Given the description of an element on the screen output the (x, y) to click on. 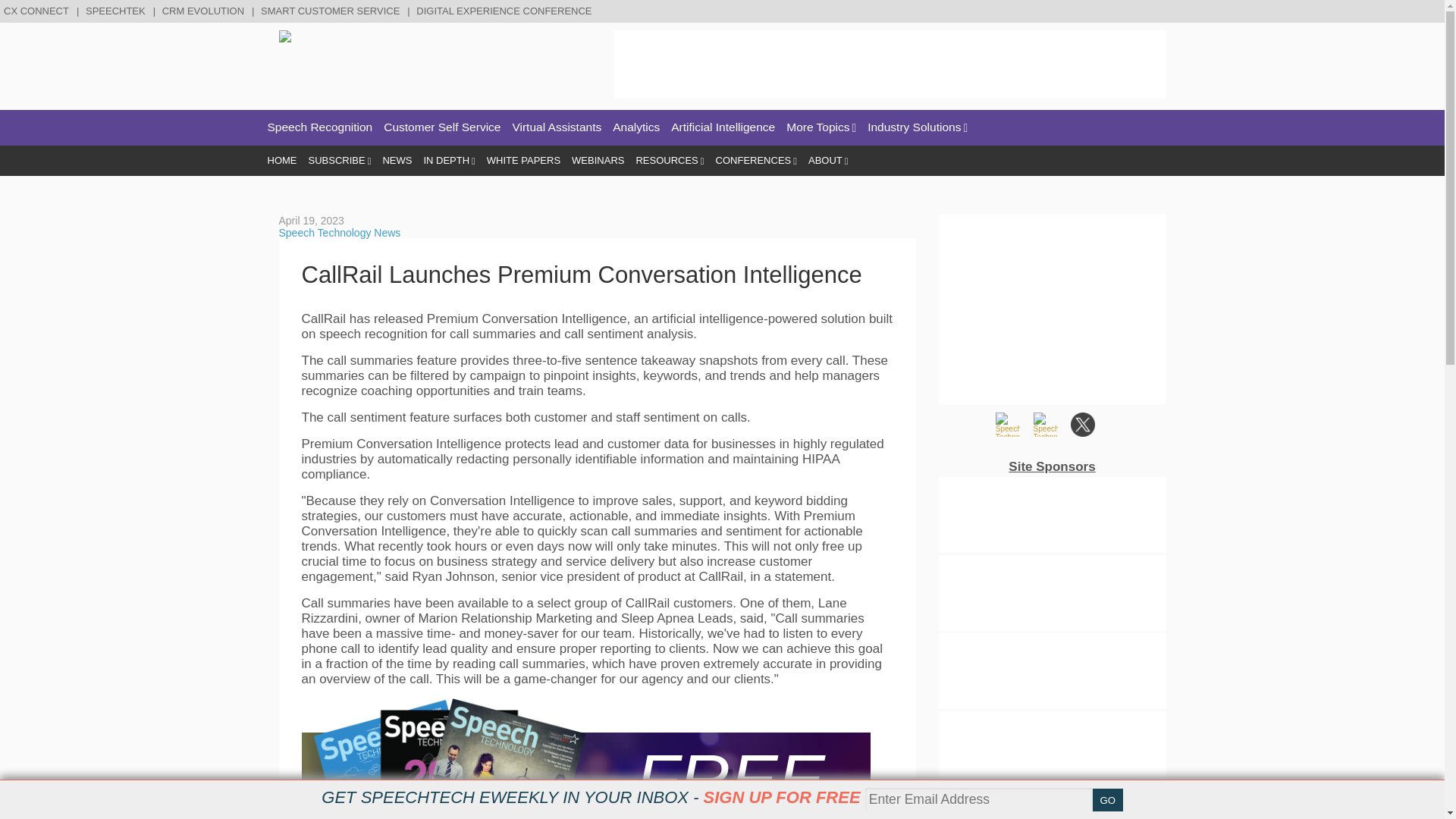
Industry Solutions (917, 127)
GO (1107, 799)
SMART CUSTOMER SERVICE (331, 10)
3rd party ad content (890, 64)
SPEECHTEK (117, 10)
Analytics (635, 127)
Artificial Intelligence (722, 127)
Customer Self Service (442, 127)
Virtual Assistants (556, 127)
Analytics (635, 127)
Speech Recognition (319, 127)
CRM EVOLUTION (204, 10)
Customer Self Service (442, 127)
Artificial Intelligence (722, 127)
Virtual Assistants (556, 127)
